Given the description of an element on the screen output the (x, y) to click on. 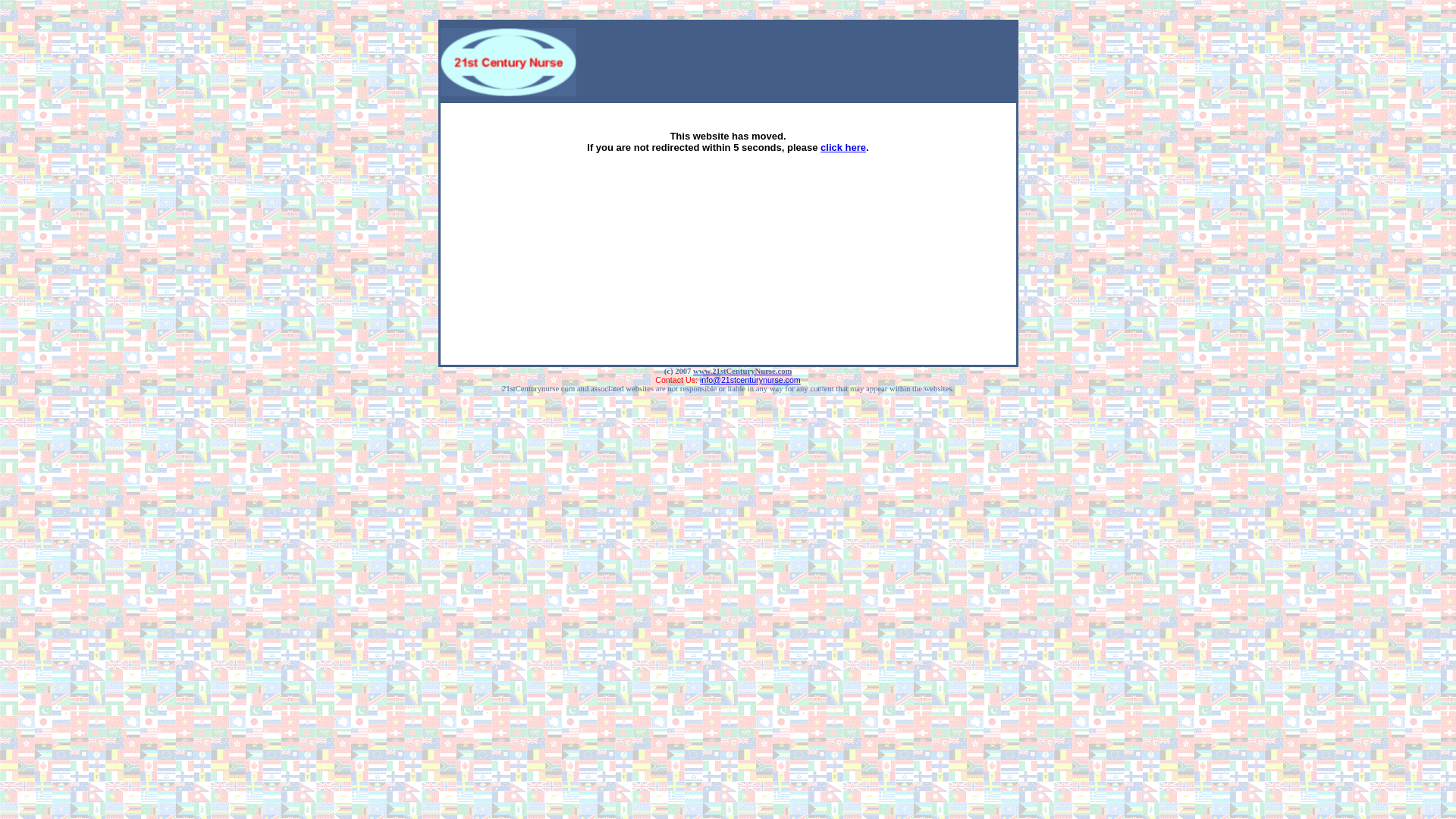
click here Element type: text (843, 147)
info@21stcenturynurse.com Element type: text (749, 379)
www.21stCenturyNurse.com Element type: text (742, 371)
